Given the description of an element on the screen output the (x, y) to click on. 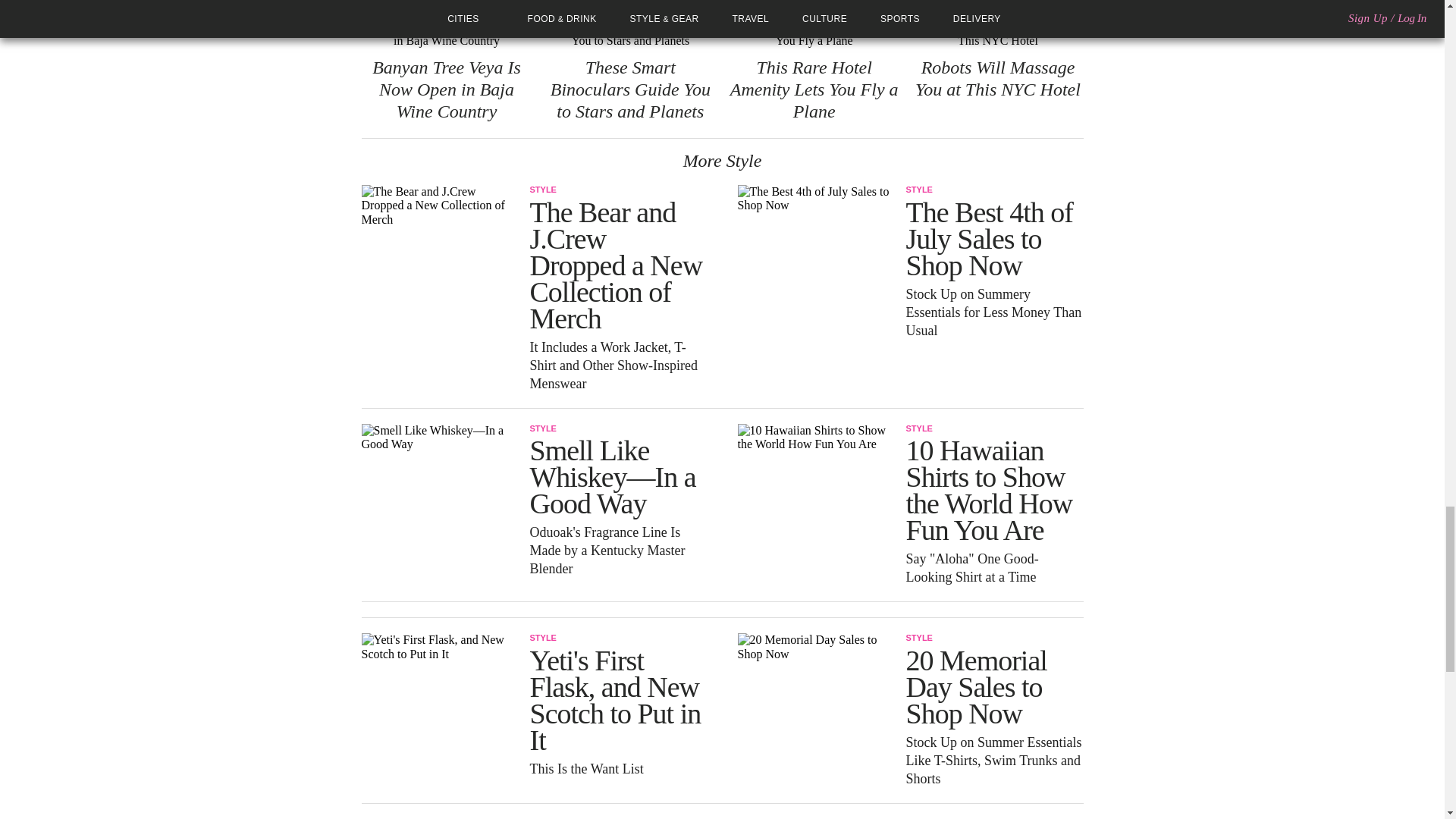
Banyan Tree Veya Is Now Open in Baja Wine Country (446, 89)
This Rare Hotel Amenity Lets You Fly a Plane (814, 89)
These Smart Binoculars Guide You to Stars and Planets (630, 89)
